Given the description of an element on the screen output the (x, y) to click on. 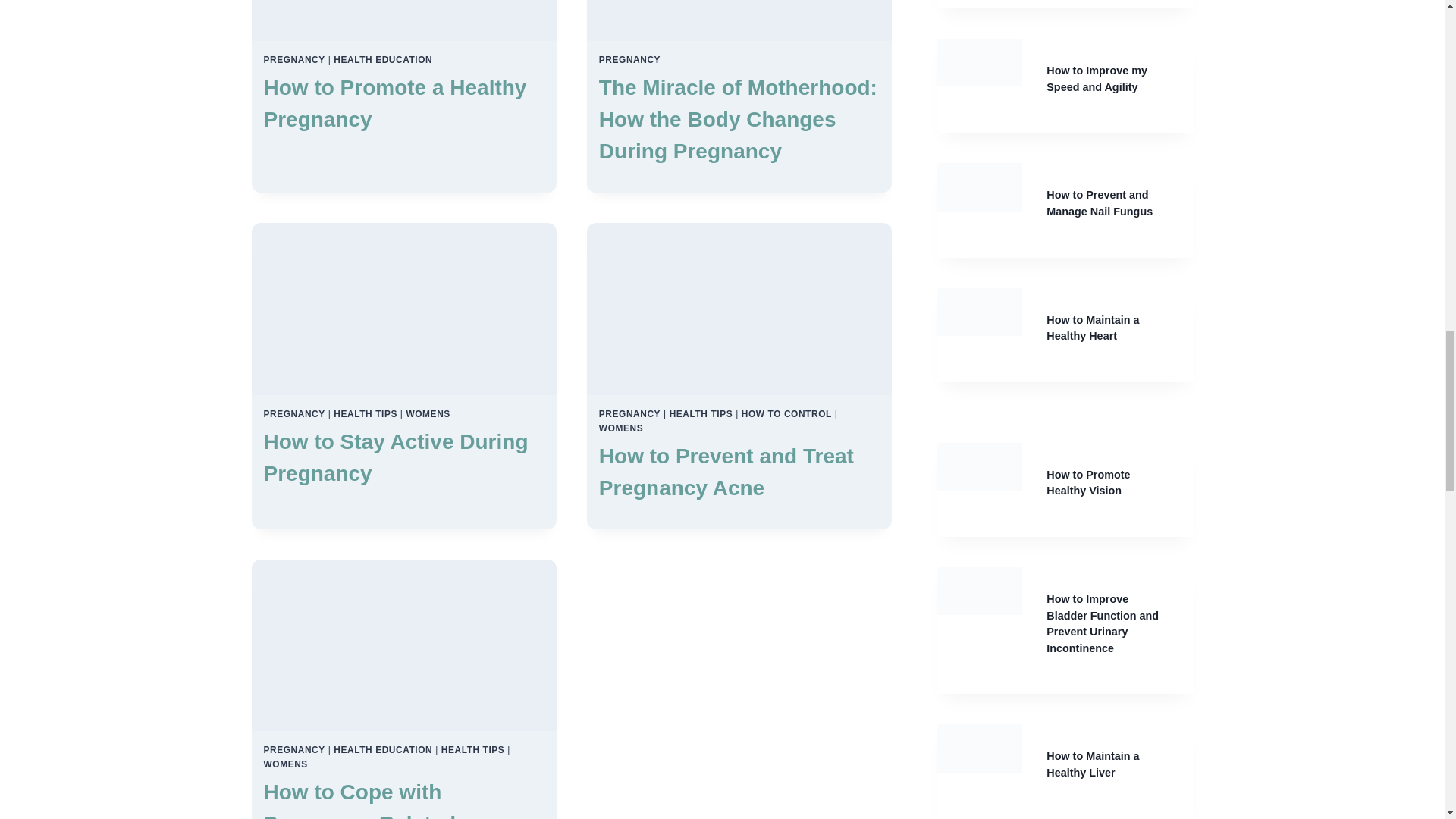
HEALTH TIPS (701, 413)
HEALTH TIPS (365, 413)
PREGNANCY (629, 59)
How to Stay Active During Pregnancy (395, 457)
PREGNANCY (629, 413)
WOMENS (620, 428)
How to Prevent and Treat Pregnancy Acne (725, 471)
HEALTH EDUCATION (382, 59)
PREGNANCY (293, 59)
WOMENS (427, 413)
How to Promote a Healthy Pregnancy (395, 103)
HOW TO CONTROL (786, 413)
PREGNANCY (293, 413)
